Given the description of an element on the screen output the (x, y) to click on. 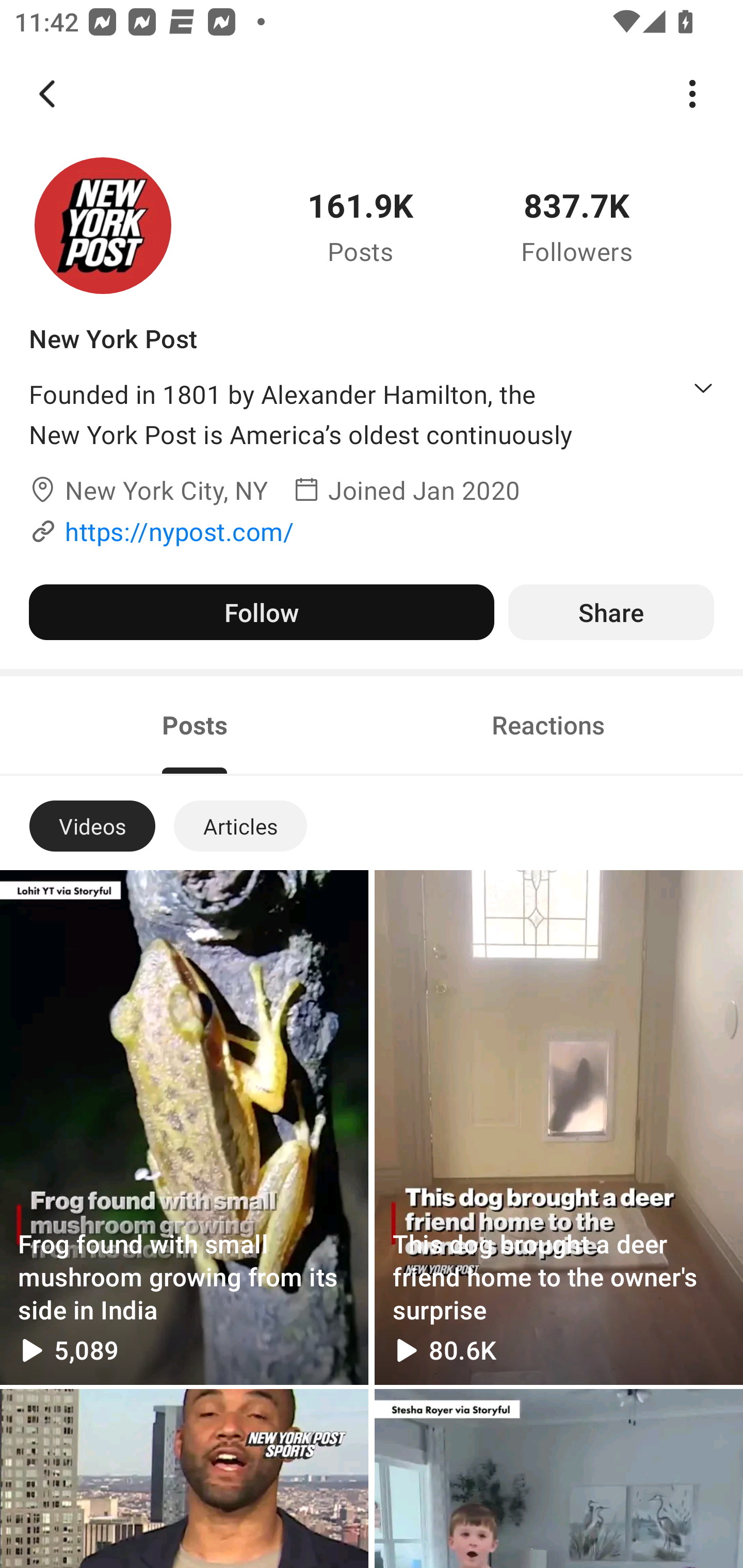
https://nypost.com/ (179, 531)
Follow (261, 611)
Share (611, 611)
Reactions (548, 724)
Articles (239, 826)
